Given the description of an element on the screen output the (x, y) to click on. 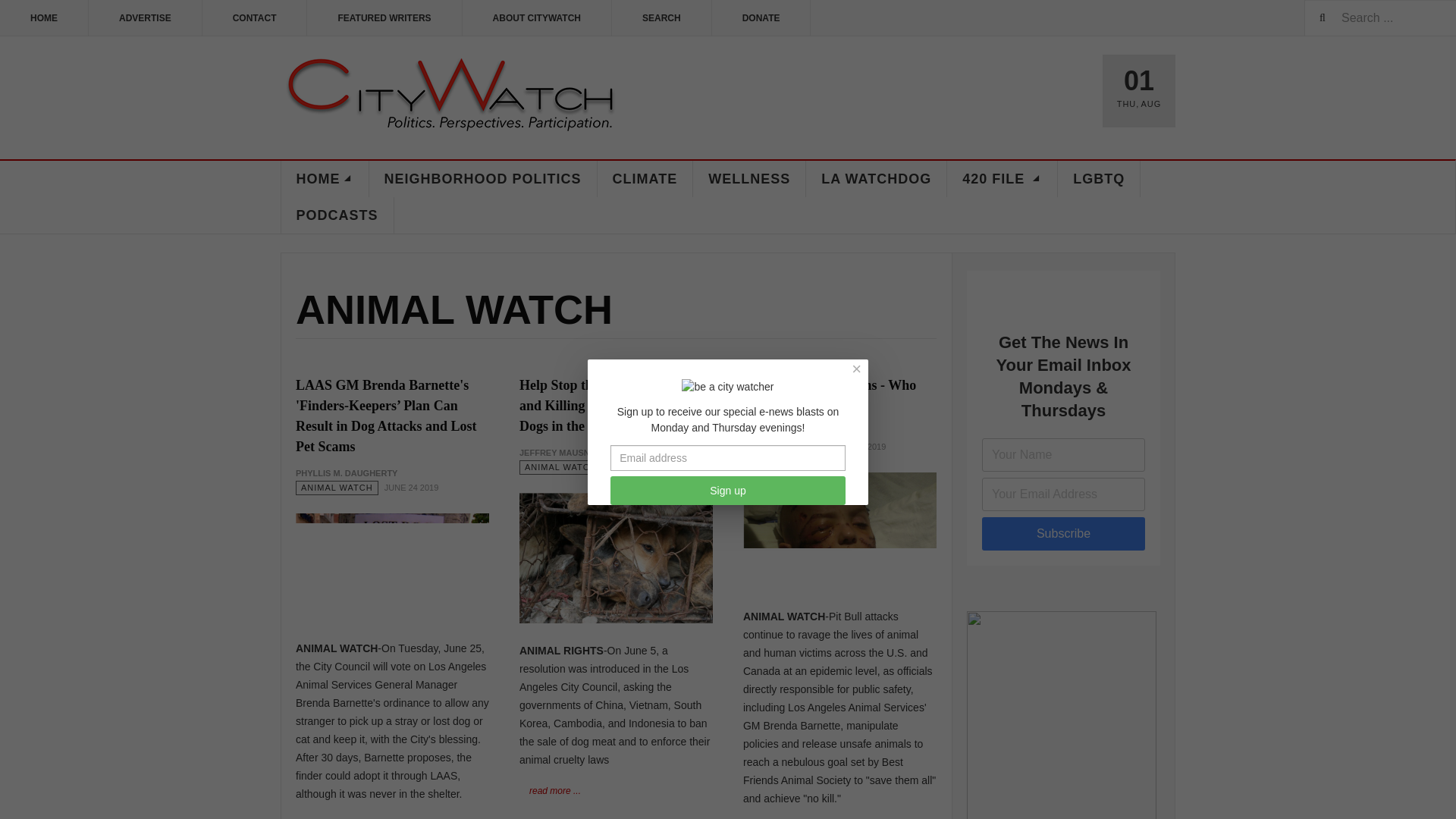
FEATURED WRITERS (384, 18)
420 FILE (1002, 178)
CLIMATE (645, 178)
HOME (44, 18)
Written by  (346, 473)
HOME (324, 178)
Category:  (560, 467)
CityWatch Los Angeles (451, 94)
Category:  (336, 487)
ABOUT CITYWATCH (537, 18)
